Given the description of an element on the screen output the (x, y) to click on. 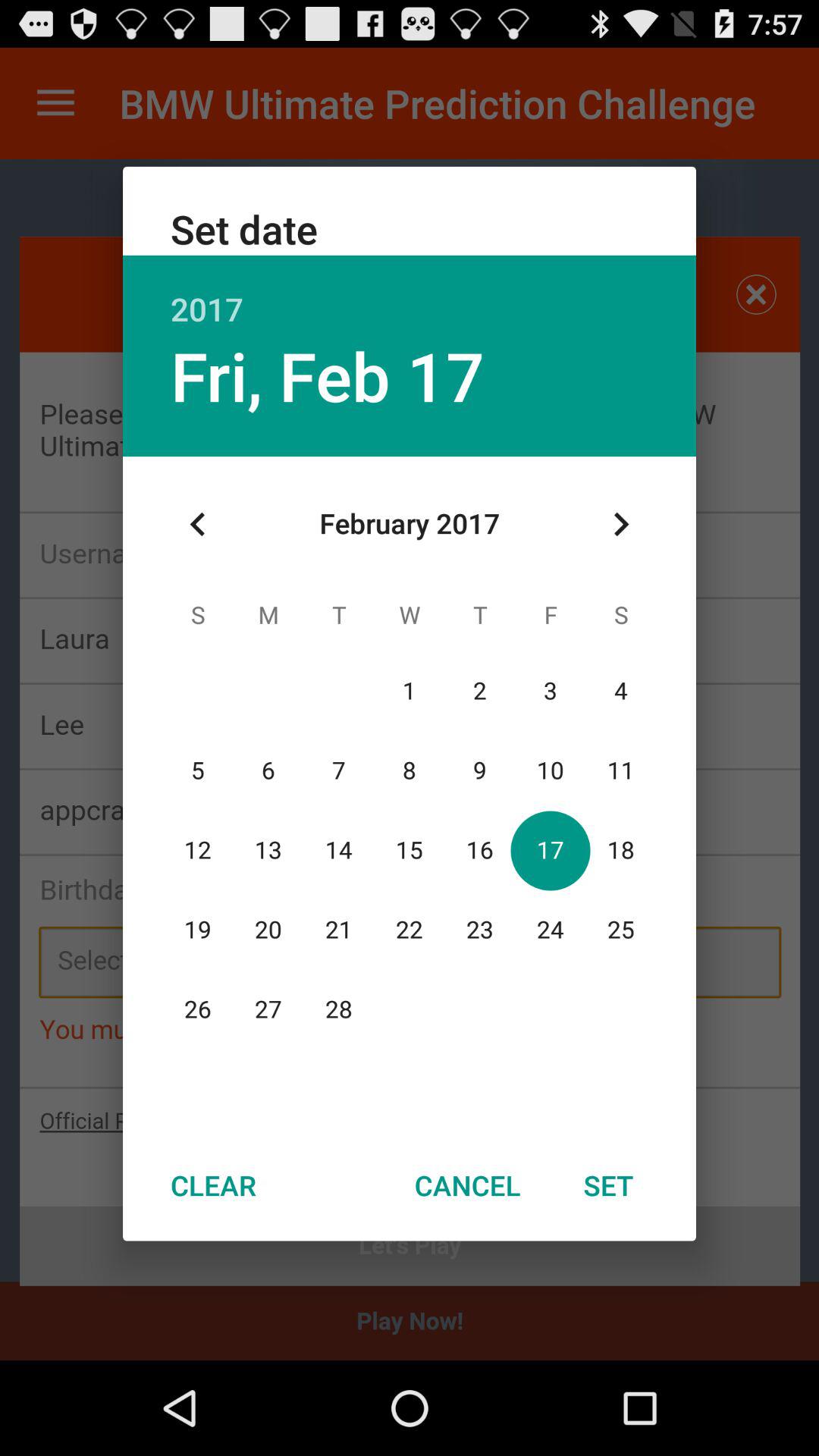
select the icon next to cancel icon (213, 1185)
